Given the description of an element on the screen output the (x, y) to click on. 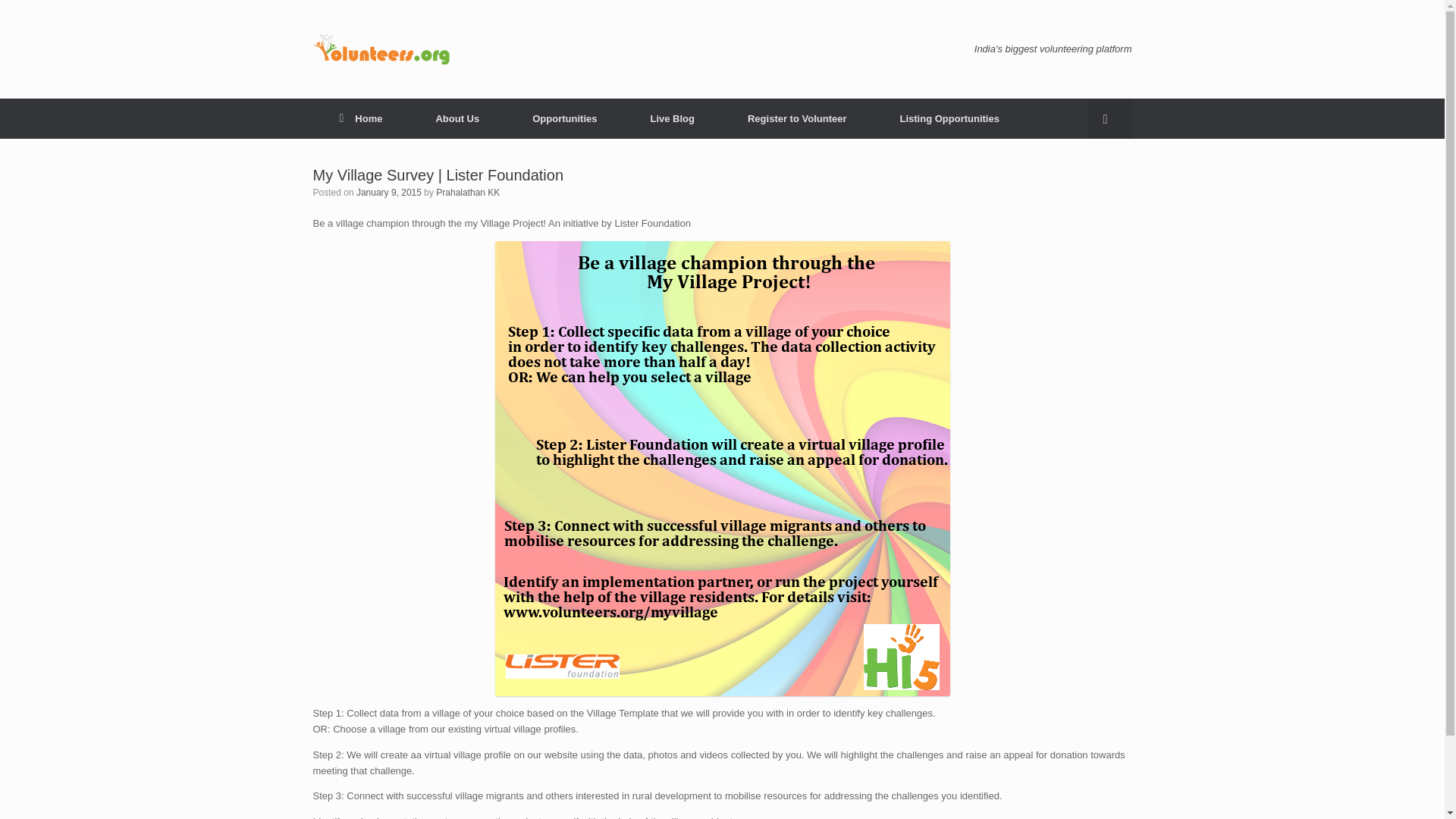
Prahalathan KK (467, 192)
Home (361, 118)
January 9, 2015 (389, 192)
Volunteers.org (381, 49)
Opportunities (564, 118)
Register to Volunteer (796, 118)
10:56 am (389, 192)
About Us (457, 118)
Live Blog (671, 118)
Listing Opportunities (949, 118)
